Given the description of an element on the screen output the (x, y) to click on. 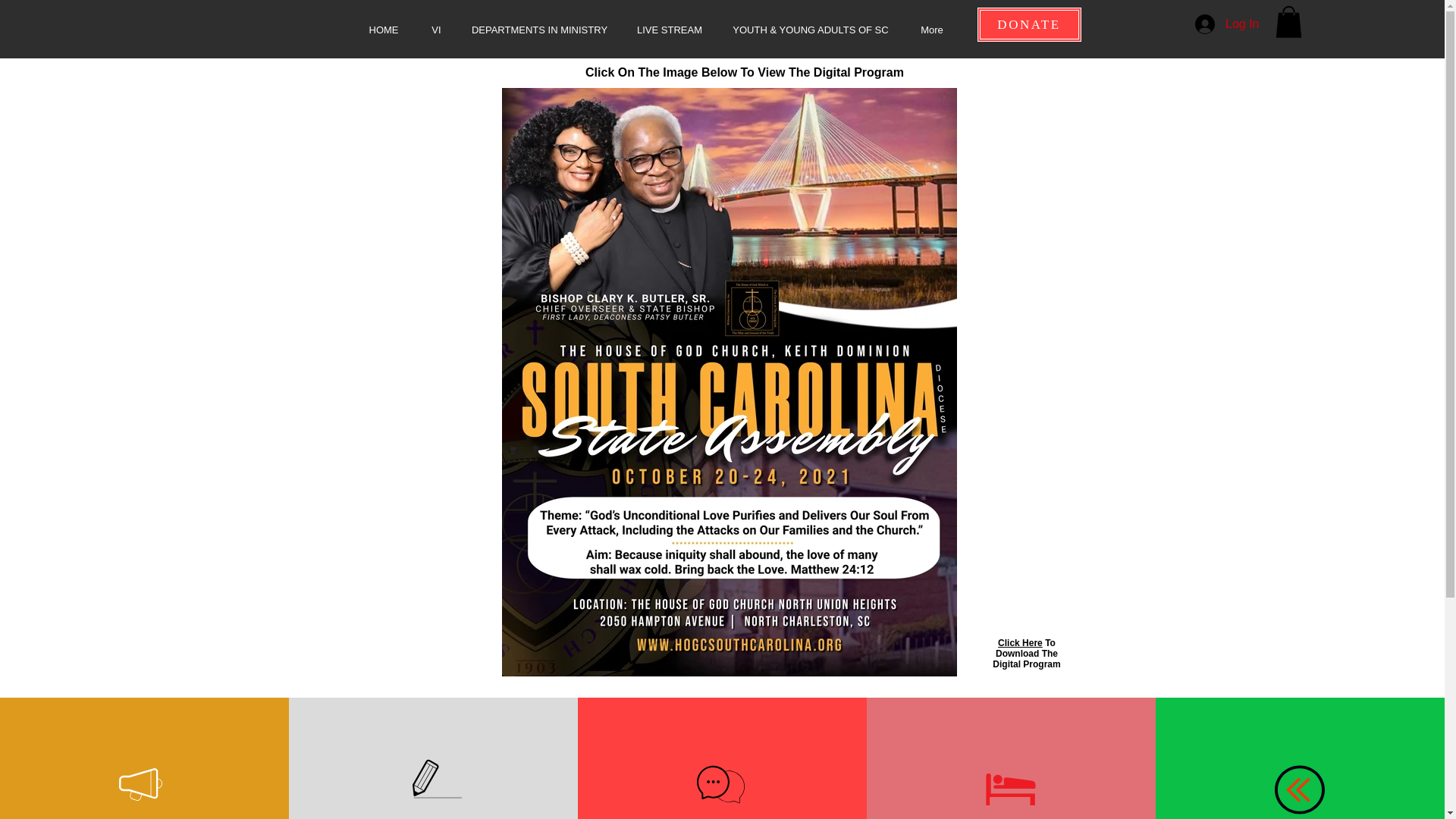
HOME (383, 29)
VI (436, 29)
DONATE (1028, 24)
Click Here (1019, 643)
Log In (1227, 23)
DEPARTMENTS IN MINISTRY (539, 29)
LIVE STREAM (669, 29)
